Given the description of an element on the screen output the (x, y) to click on. 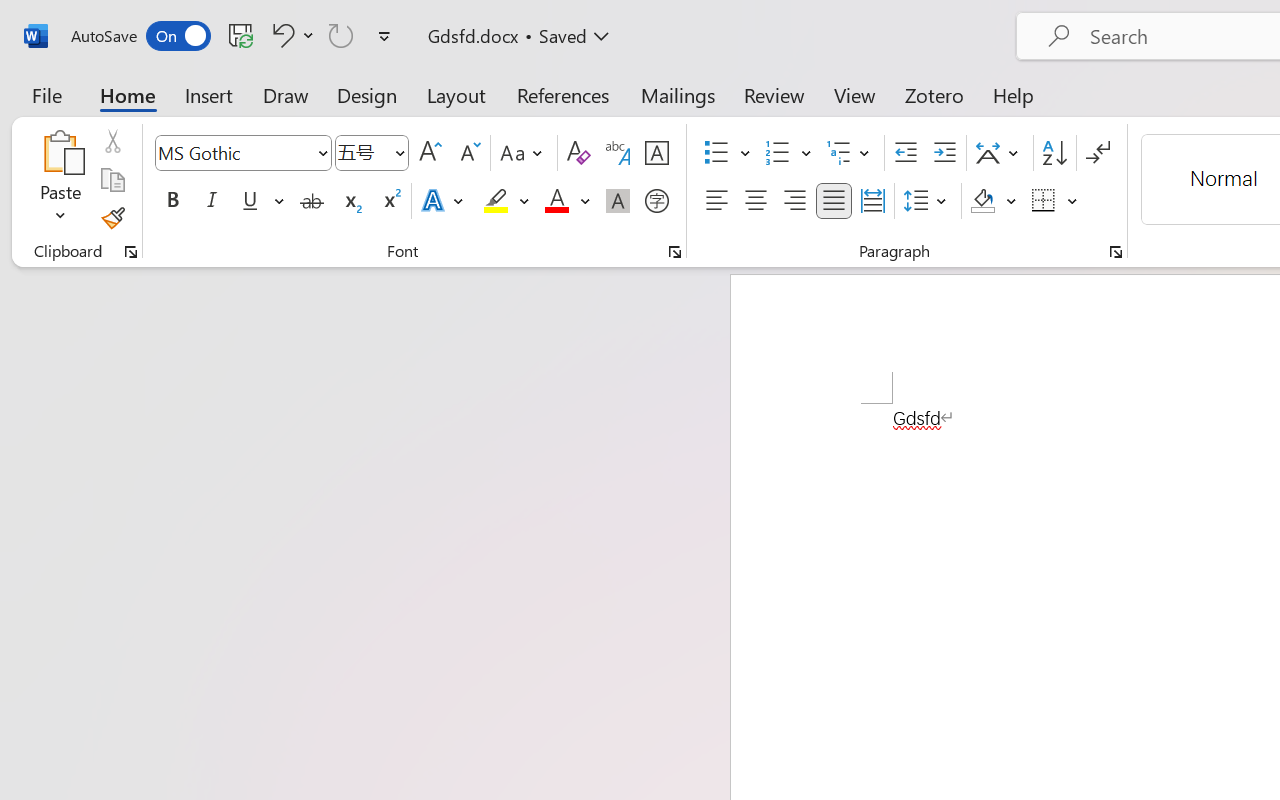
Undo Font Formatting (280, 35)
Font Color Red (556, 201)
Change Case (524, 153)
Asian Layout (1000, 153)
